Given the description of an element on the screen output the (x, y) to click on. 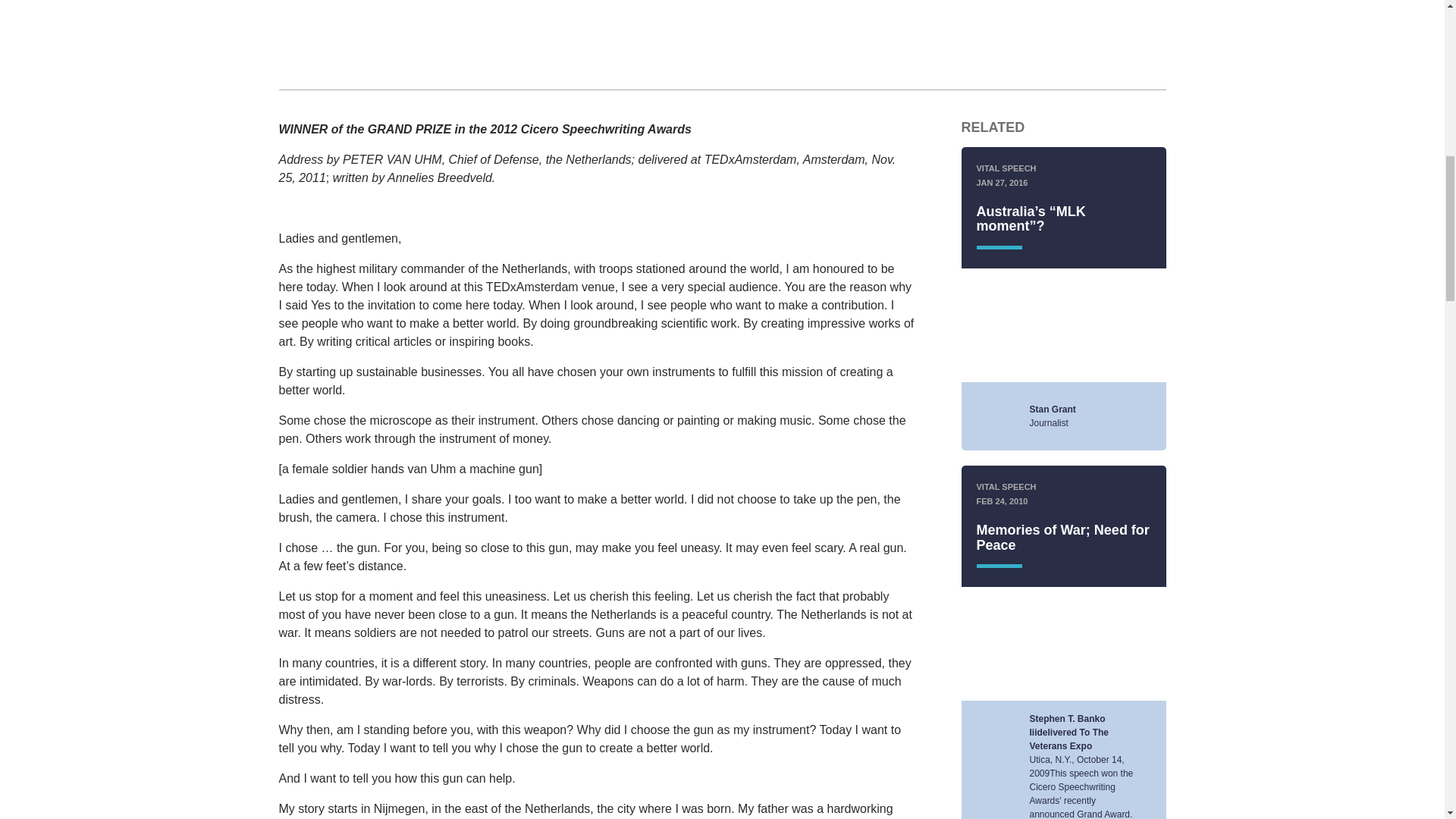
Memories of War; Need for Peace (1063, 537)
VITAL SPEECH (1006, 167)
VITAL SPEECH (1006, 486)
